Given the description of an element on the screen output the (x, y) to click on. 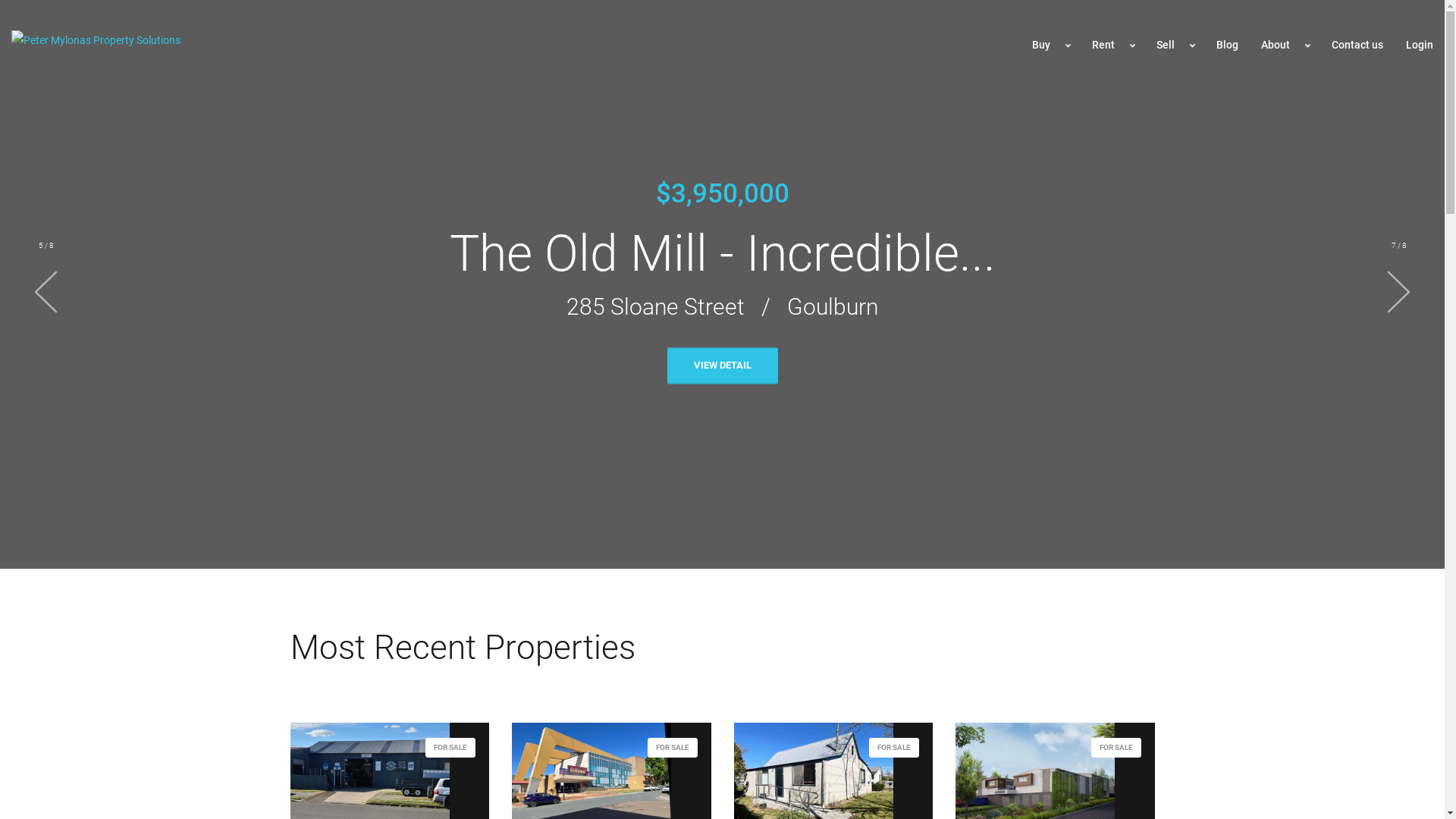
Blog Element type: text (1227, 44)
FOR SALE Element type: text (813, 781)
54 Tall Timbers Drive Element type: text (632, 306)
Rent Element type: text (1112, 44)
FOR SALE Element type: text (368, 781)
Login Element type: text (1419, 44)
VIEW DETAIL Element type: text (722, 365)
Sell Element type: text (1174, 44)
FOR SALE Element type: text (1034, 781)
FOR SALE Element type: text (591, 781)
Home Element type: hover (95, 45)
About Element type: text (1284, 44)
Buy Element type: text (1050, 44)
Contact us Element type: text (1357, 44)
Your New Adventure Starts... Element type: text (722, 253)
Run O Waters Element type: text (848, 306)
